Given the description of an element on the screen output the (x, y) to click on. 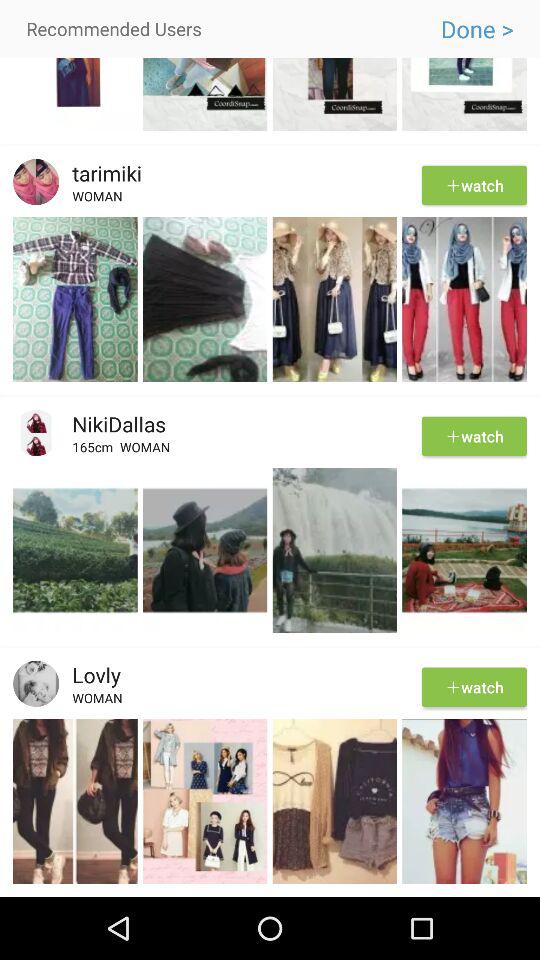
click the icon next to the recommended users app (476, 29)
